Given the description of an element on the screen output the (x, y) to click on. 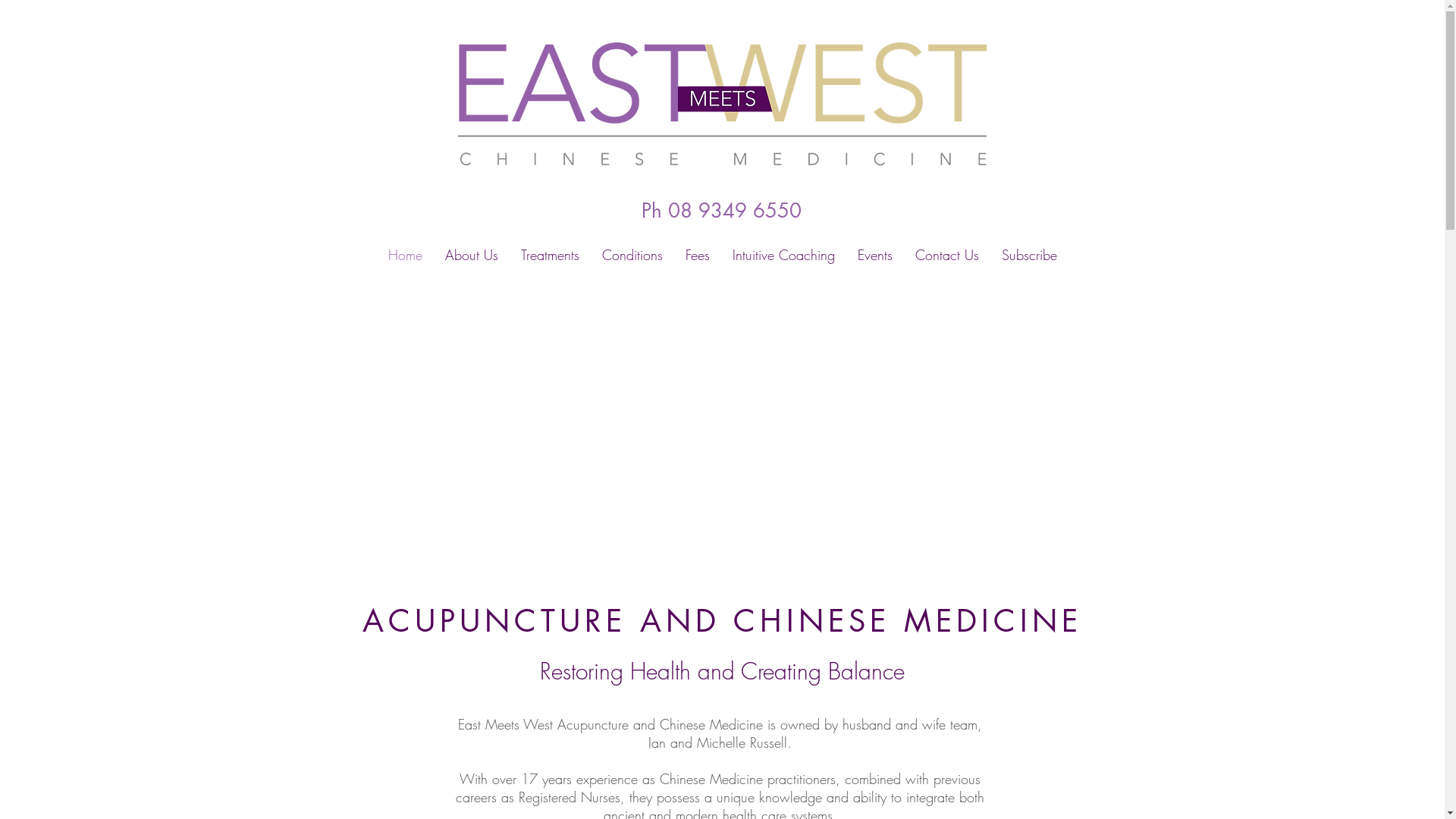
Intuitive Coaching Element type: text (782, 254)
Home Element type: text (404, 254)
Conditions Element type: text (631, 254)
Treatments Element type: text (549, 254)
Events Element type: text (874, 254)
Subscribe Element type: text (1029, 254)
About Us Element type: text (471, 254)
Ph 08 9349 6550 Element type: text (721, 210)
Contact Us Element type: text (946, 254)
Fees Element type: text (696, 254)
